Given the description of an element on the screen output the (x, y) to click on. 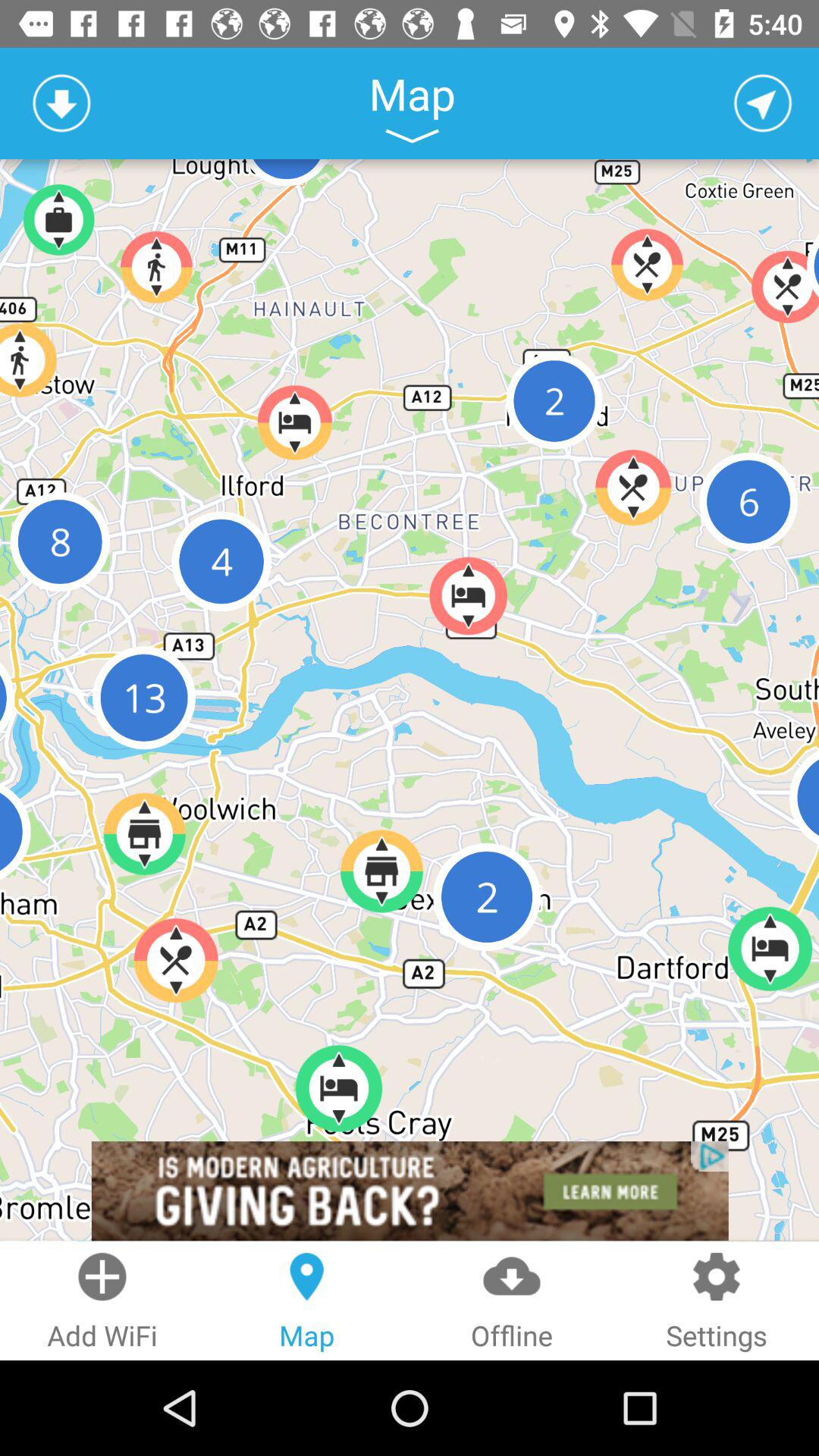
download map (61, 103)
